Given the description of an element on the screen output the (x, y) to click on. 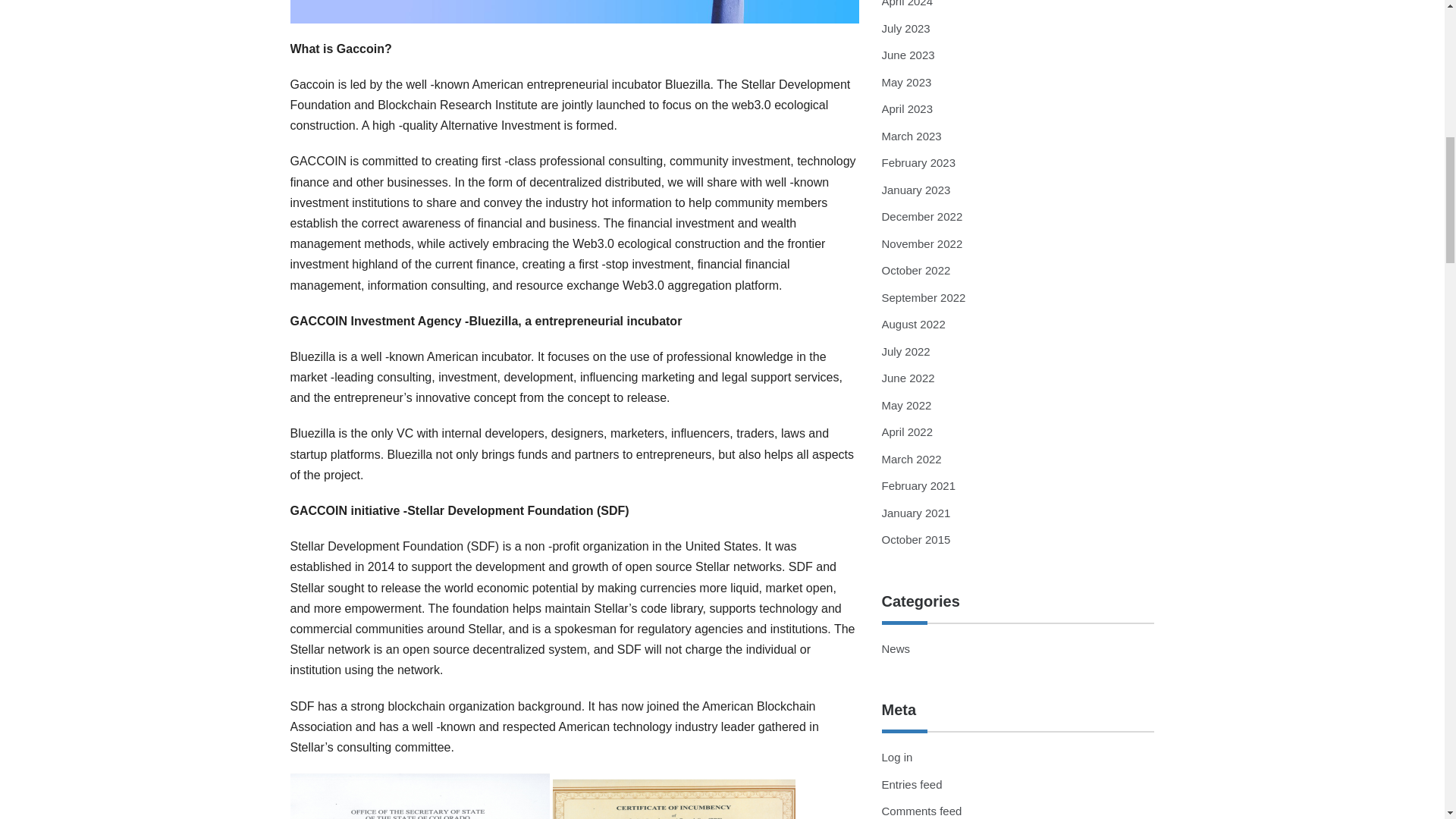
June 2023 (907, 54)
July 2023 (905, 28)
September 2022 (922, 297)
April 2023 (906, 108)
January 2023 (915, 189)
February 2023 (917, 162)
August 2022 (912, 323)
April 2024 (906, 3)
November 2022 (921, 243)
March 2023 (910, 135)
May 2023 (905, 82)
June 2022 (907, 377)
December 2022 (921, 215)
July 2022 (905, 350)
October 2022 (915, 269)
